Given the description of an element on the screen output the (x, y) to click on. 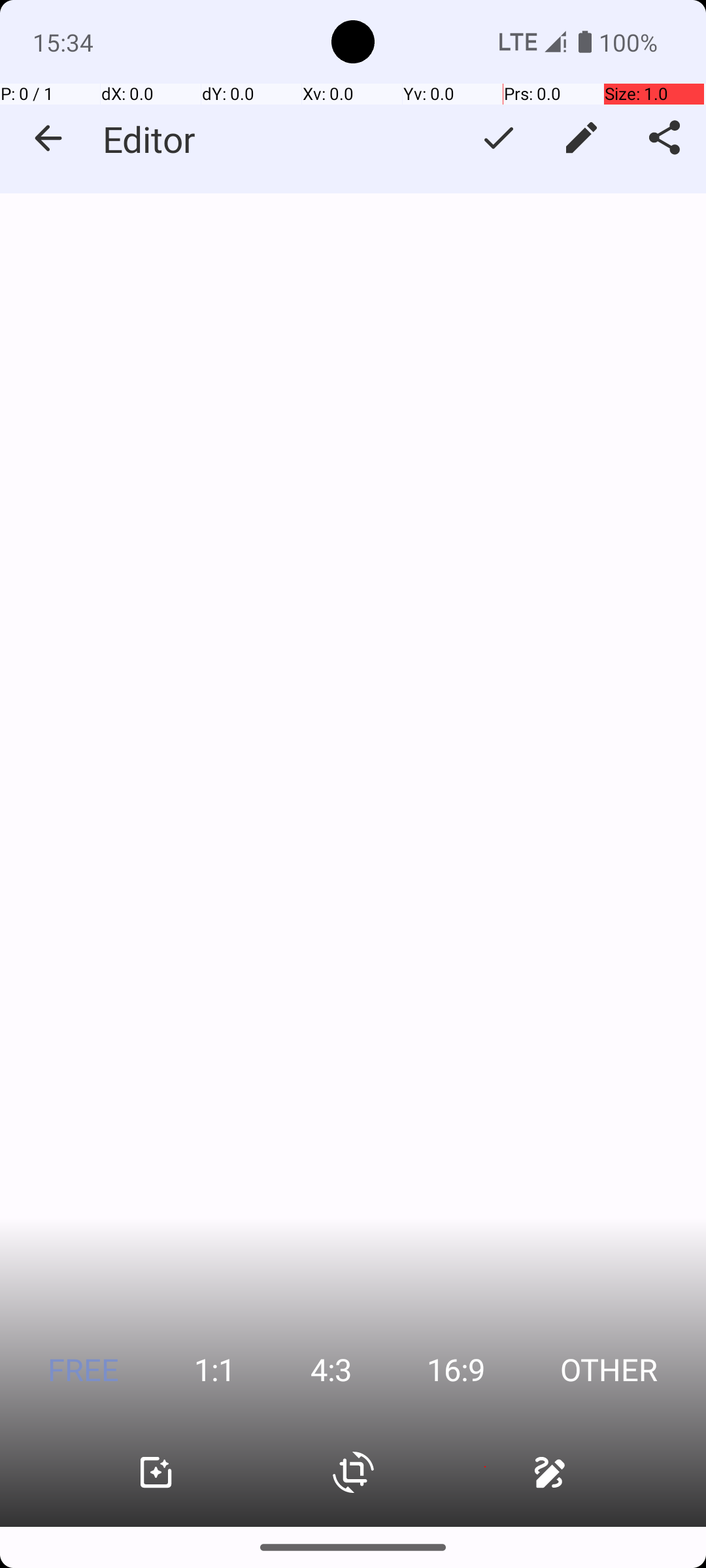
Editor Element type: android.widget.TextView (148, 138)
Save as Element type: android.widget.Button (497, 137)
Edit with Element type: android.widget.Button (580, 137)
FREE Element type: android.widget.TextView (83, 1369)
1:1 Element type: android.widget.TextView (214, 1369)
4:3 Element type: android.widget.TextView (331, 1369)
16:9 Element type: android.widget.TextView (455, 1369)
OTHER Element type: android.widget.TextView (608, 1369)
Filter Element type: android.widget.ImageView (155, 1471)
Transform Element type: android.widget.ImageView (352, 1471)
Draw Element type: android.widget.ImageView (549, 1471)
